Given the description of an element on the screen output the (x, y) to click on. 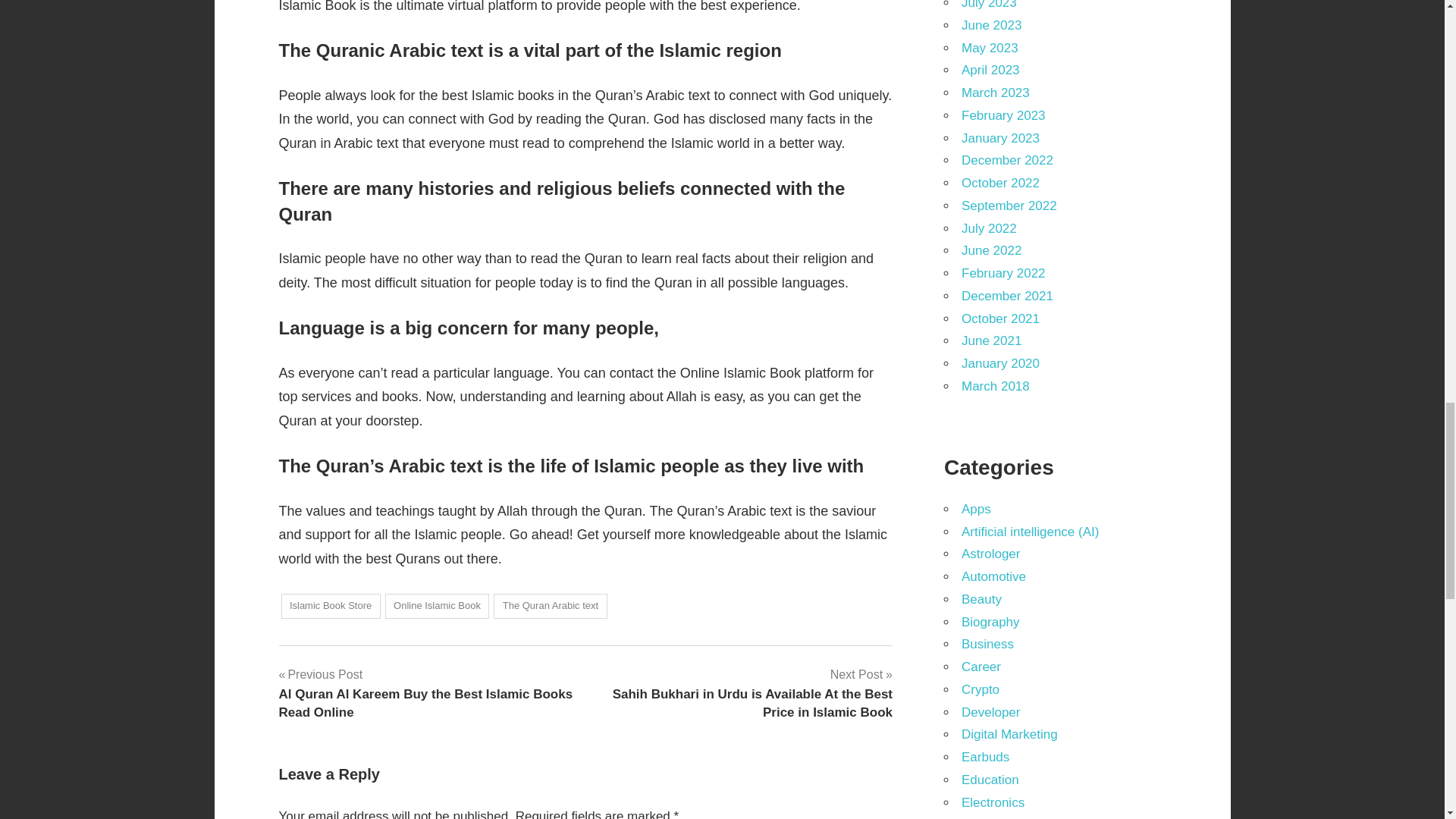
Online Islamic Book (437, 606)
Islamic Book Store (330, 606)
The Quran Arabic text (550, 606)
